Given the description of an element on the screen output the (x, y) to click on. 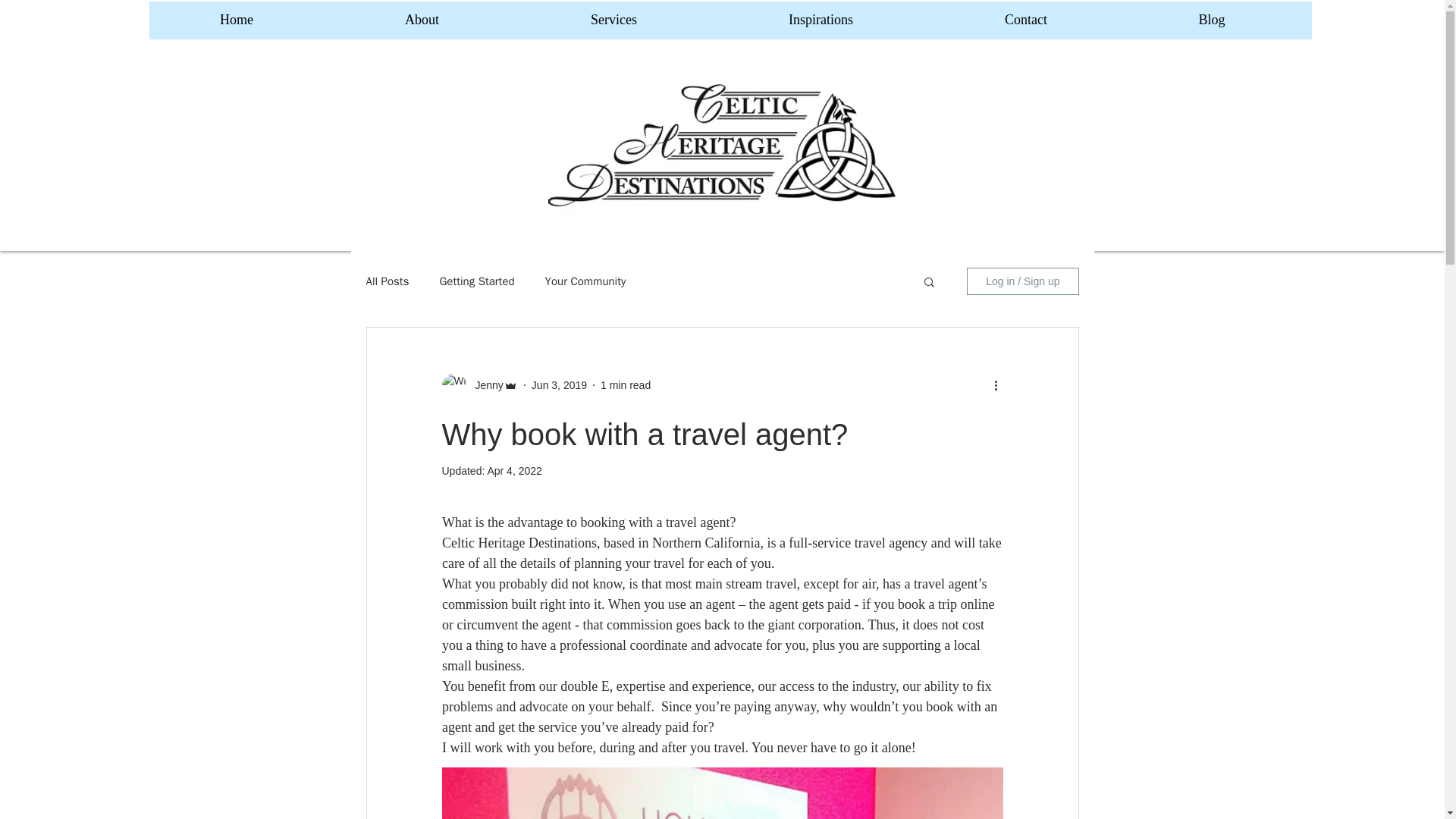
Jun 3, 2019 (558, 385)
Contact (1025, 19)
Getting Started (476, 281)
Home (236, 19)
About (422, 19)
Jenny (483, 385)
Inspirations (820, 19)
Your Community (585, 281)
Blog (1211, 19)
All Posts (387, 281)
Apr 4, 2022 (513, 470)
1 min read (624, 385)
Services (614, 19)
